Given the description of an element on the screen output the (x, y) to click on. 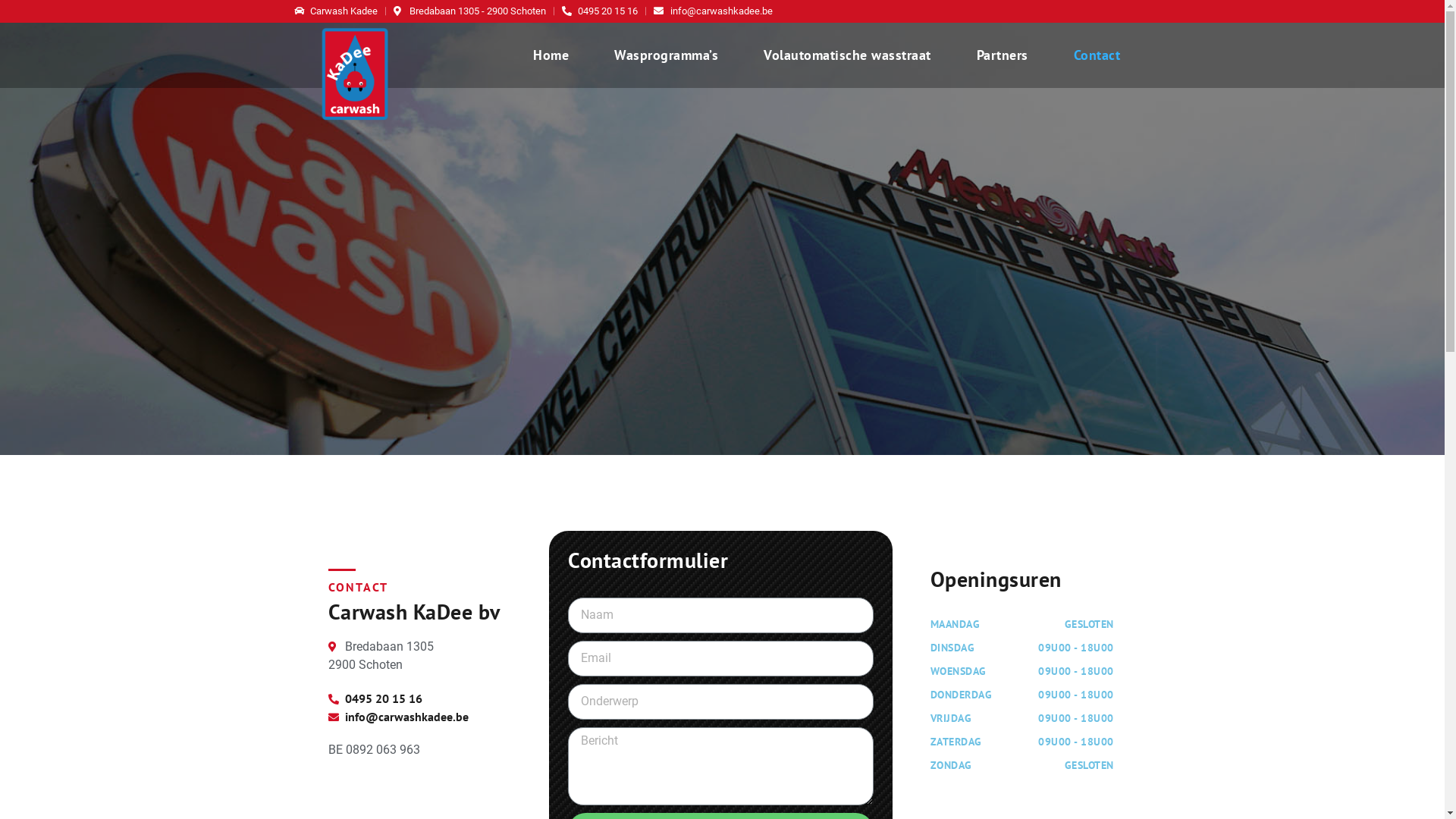
VRIJDAG
09U00 - 18U00 Element type: text (1021, 721)
ZATERDAG
09U00 - 18U00 Element type: text (1021, 745)
Volautomatische wasstraat Element type: text (847, 54)
WOENSDAG
09U00 - 18U00 Element type: text (1021, 674)
info@carwashkadee.be Element type: text (712, 10)
Partners Element type: text (1002, 54)
0495 20 15 16 Element type: text (599, 10)
info@carwashkadee.be Element type: text (419, 715)
DONDERDAG
09U00 - 18U00 Element type: text (1021, 698)
DINSDAG
09U00 - 18U00 Element type: text (1021, 651)
0495 20 15 16 Element type: text (419, 697)
Home Element type: text (550, 54)
MAANDAG
GESLOTEN Element type: text (1021, 627)
Contact Element type: text (1096, 54)
ZONDAG
GESLOTEN Element type: text (1021, 768)
